Given the description of an element on the screen output the (x, y) to click on. 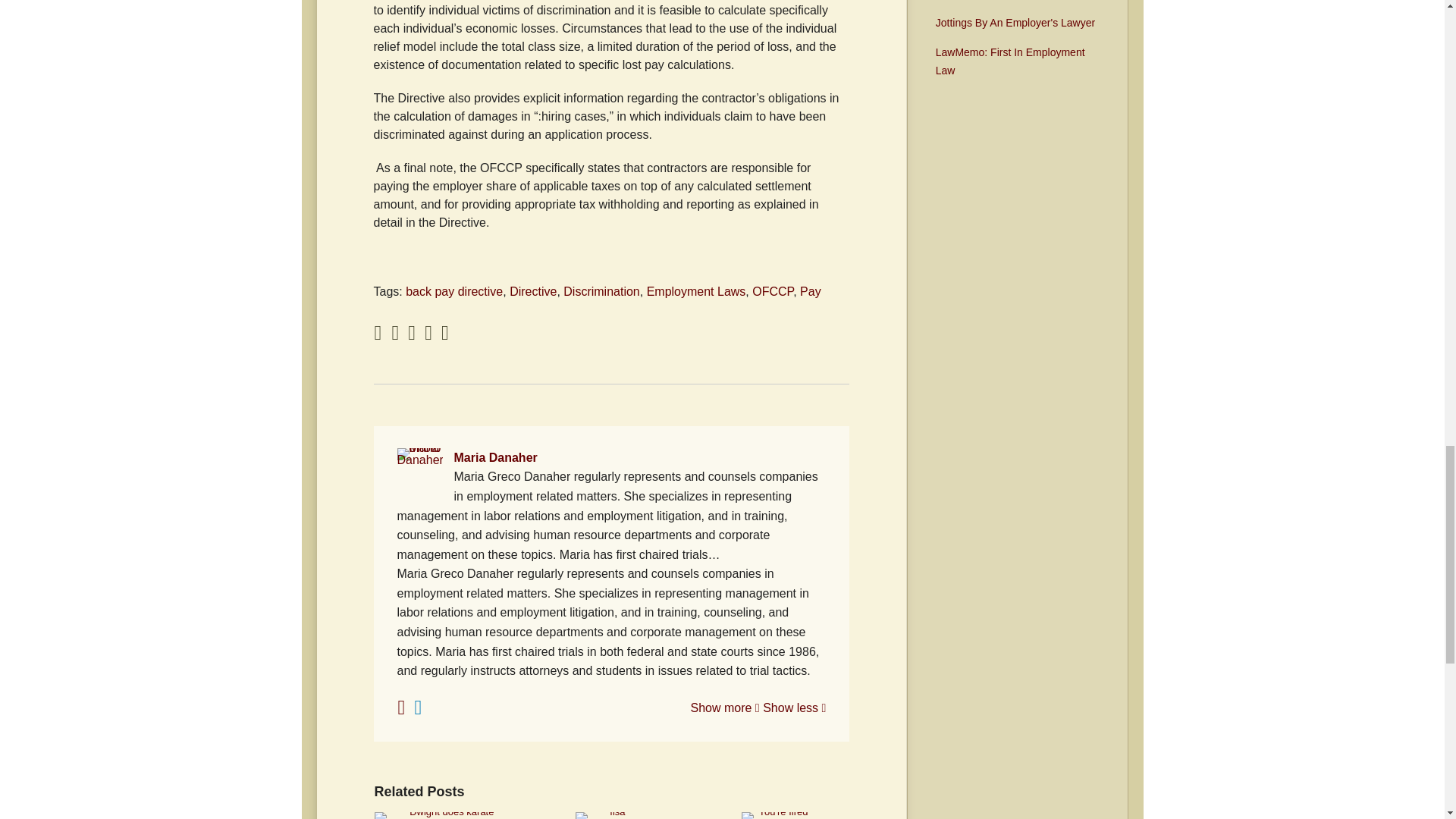
OFCCP (772, 291)
Employment Laws (695, 291)
back pay directive (454, 291)
Directive (532, 291)
Show less (793, 707)
Pay (810, 291)
Discrimination (601, 291)
Show more (724, 707)
Maria Danaher (612, 457)
